Given the description of an element on the screen output the (x, y) to click on. 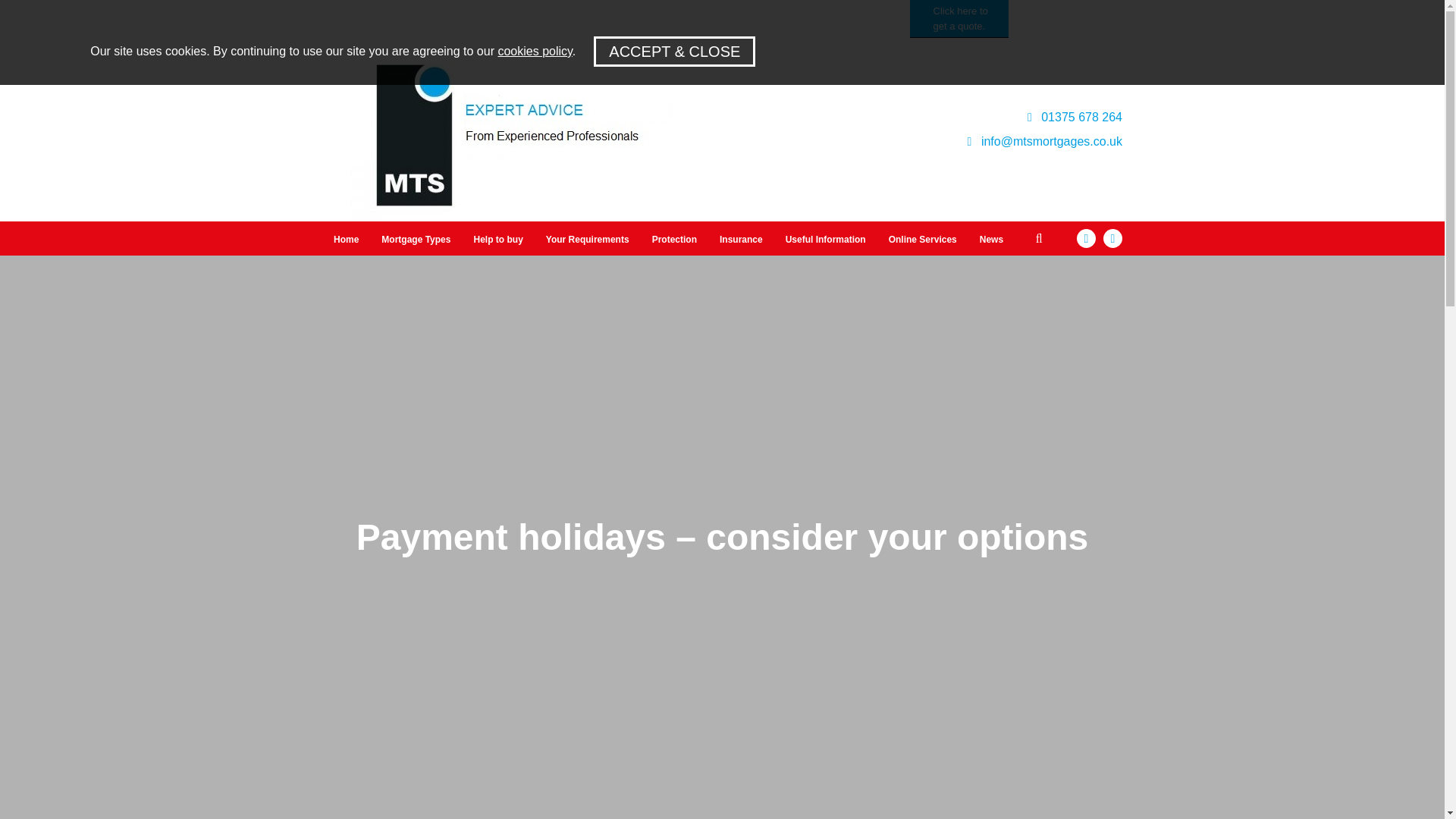
Home (345, 239)
Mortgage Types (415, 239)
01375 678 264 (1074, 117)
